Given the description of an element on the screen output the (x, y) to click on. 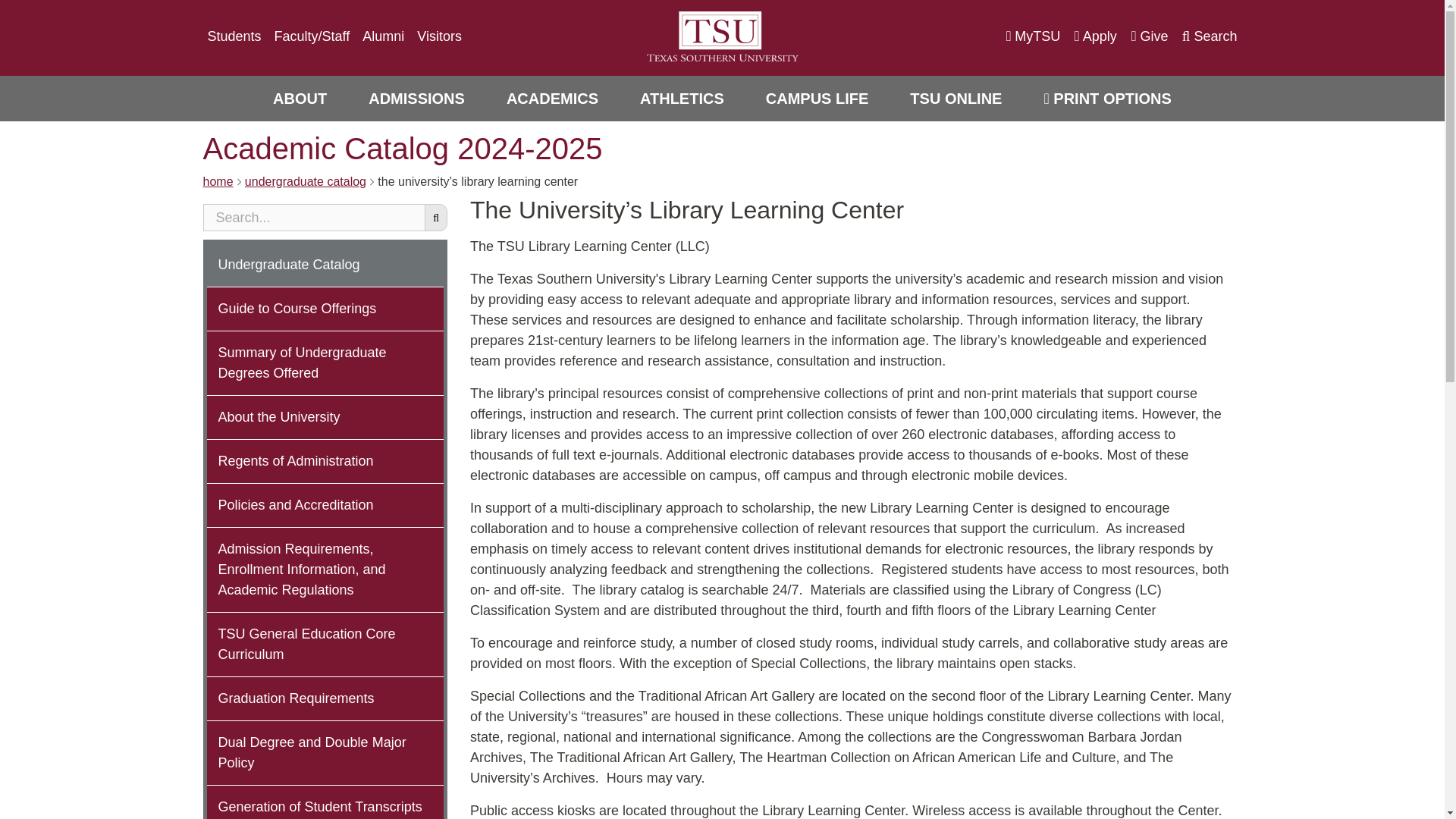
ABOUT (299, 98)
Students (234, 36)
ADMISSIONS (416, 98)
Apply (1095, 36)
MyTSU (1033, 36)
Visitors (438, 36)
Alumni (383, 36)
Search (1209, 36)
Give (1149, 36)
